Given the description of an element on the screen output the (x, y) to click on. 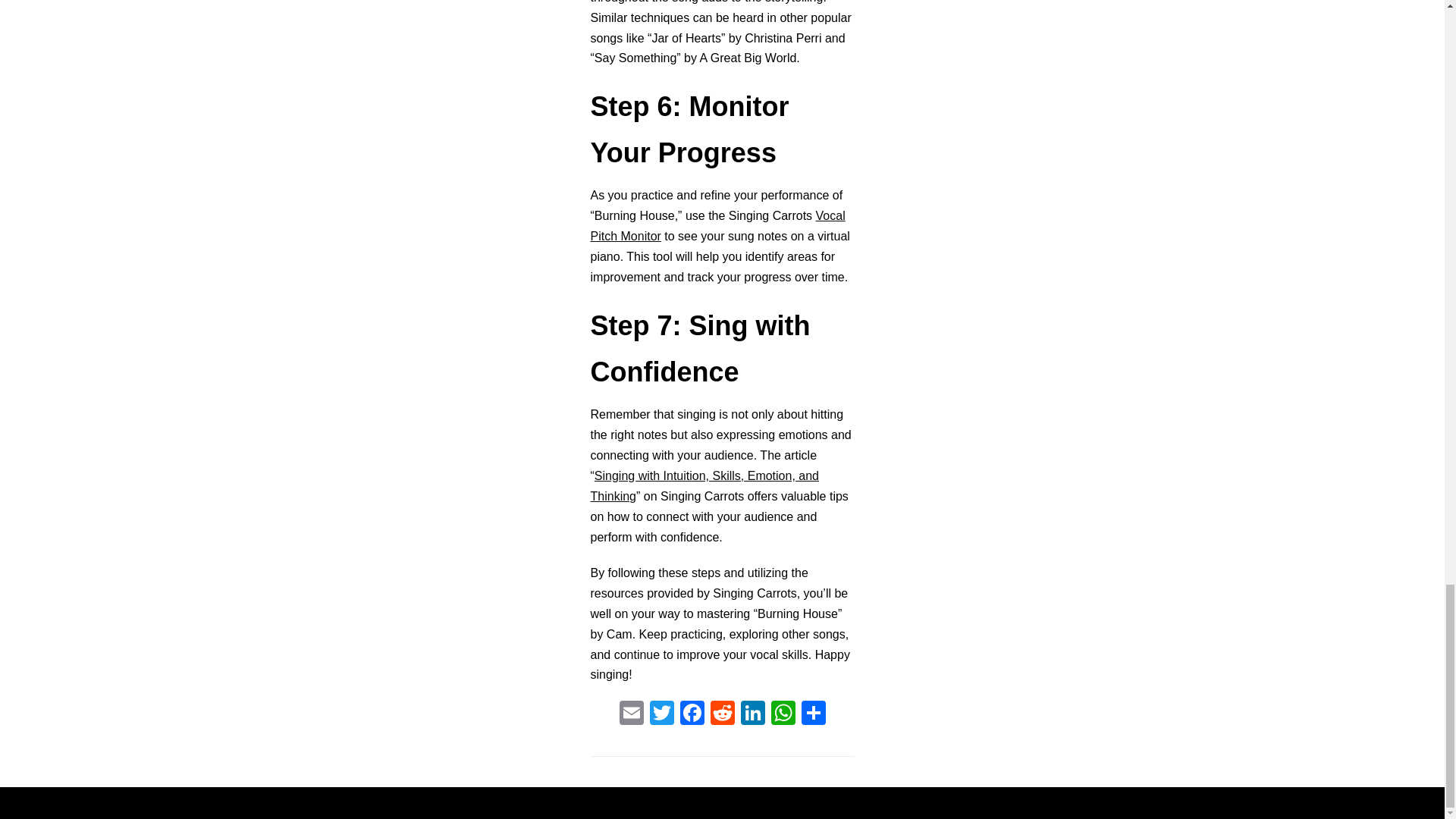
LinkedIn (751, 714)
Singing with Intuition, Skills, Emotion, and Thinking (703, 485)
Reddit (721, 714)
Twitter (661, 714)
LinkedIn (751, 714)
Neve (652, 802)
Email (630, 714)
Email (630, 714)
WordPress (775, 802)
WhatsApp (782, 714)
